Given the description of an element on the screen output the (x, y) to click on. 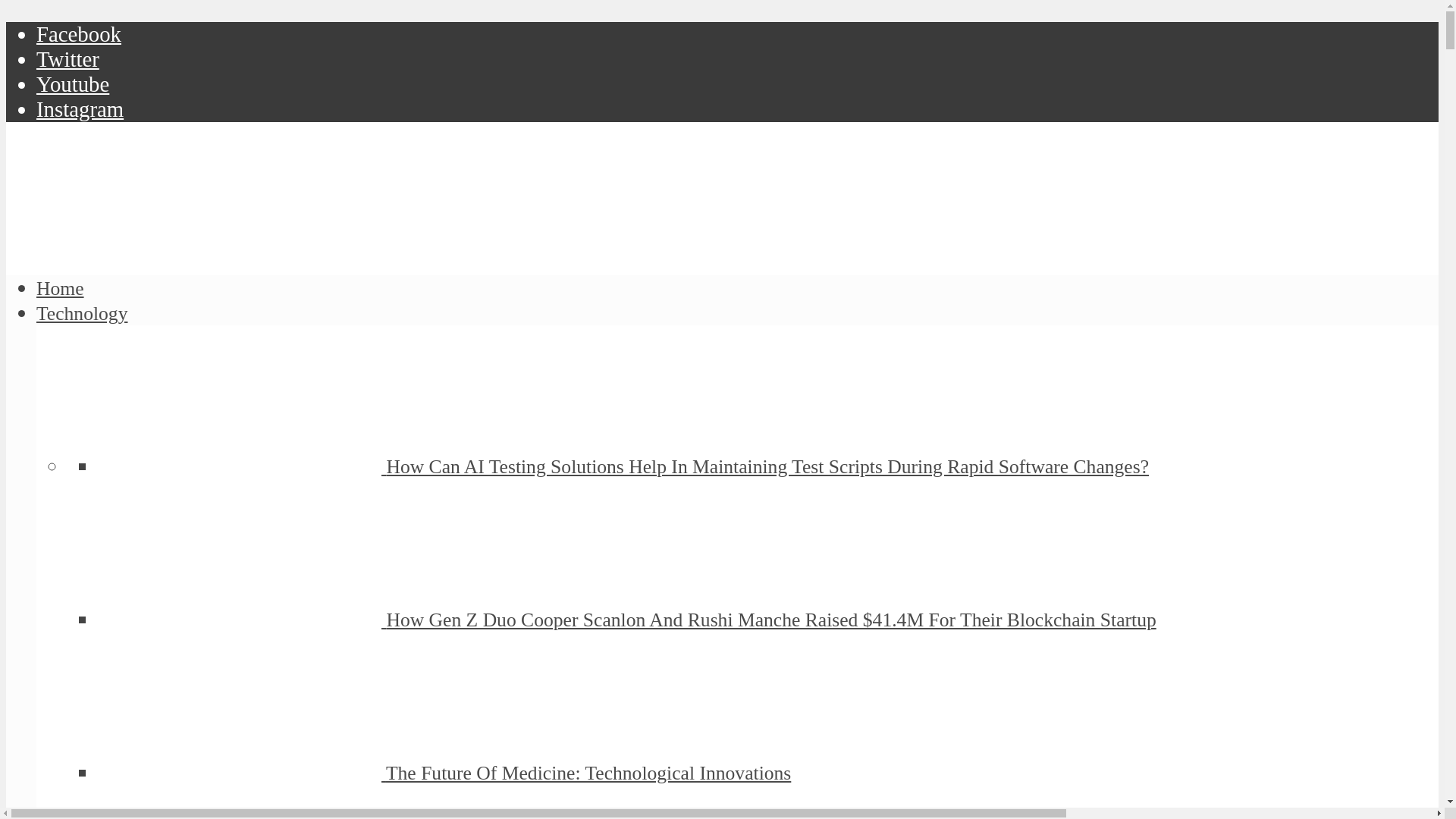
Twitter (67, 58)
Instagram (79, 109)
Technology (82, 313)
The Future Of Medicine: Technological Innovations (587, 772)
Home (60, 288)
The Future Of Medicine: Technological Innovations (241, 772)
Facebook (78, 33)
